Given the description of an element on the screen output the (x, y) to click on. 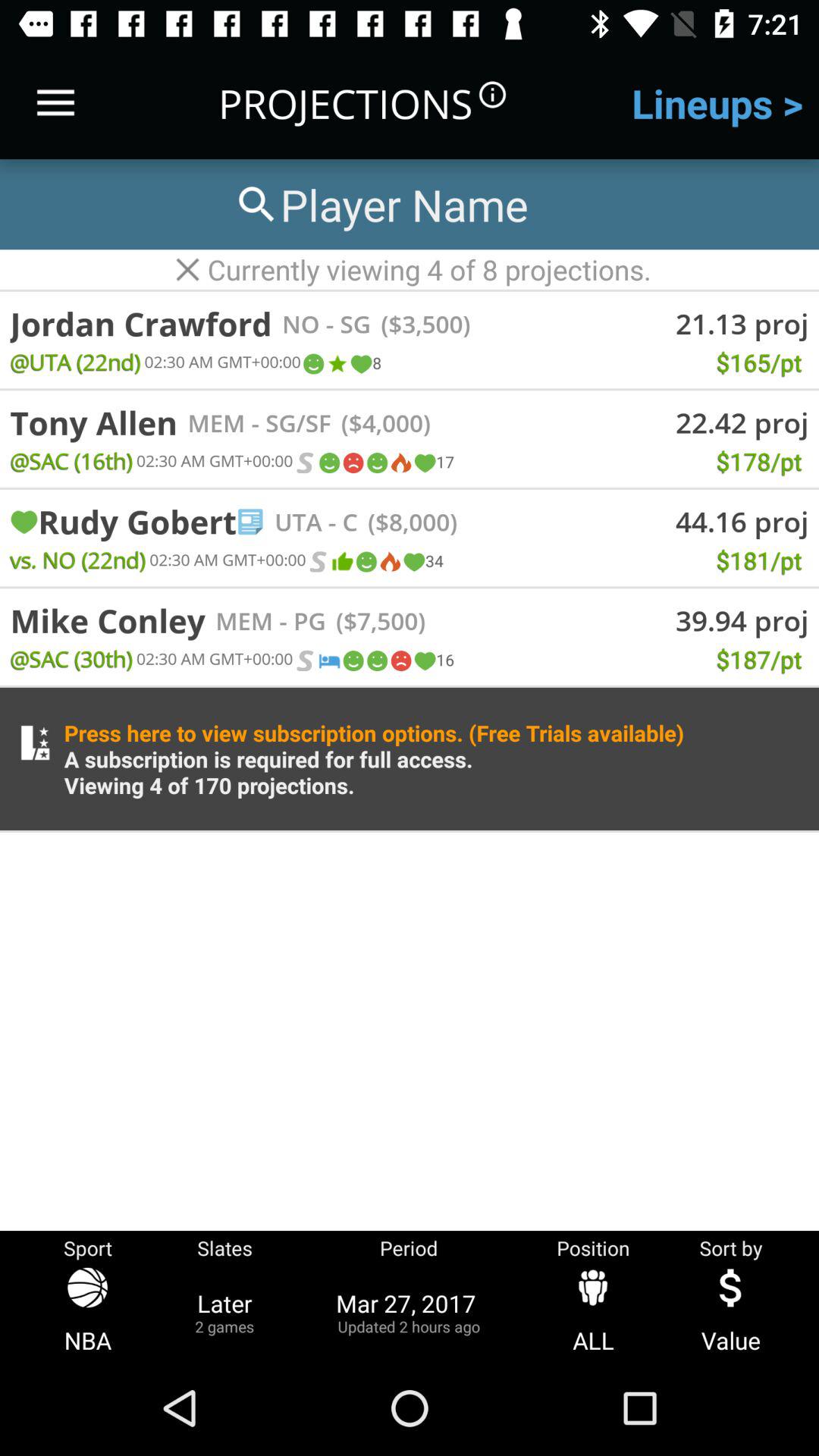
launch item next to the projections item (55, 103)
